Given the description of an element on the screen output the (x, y) to click on. 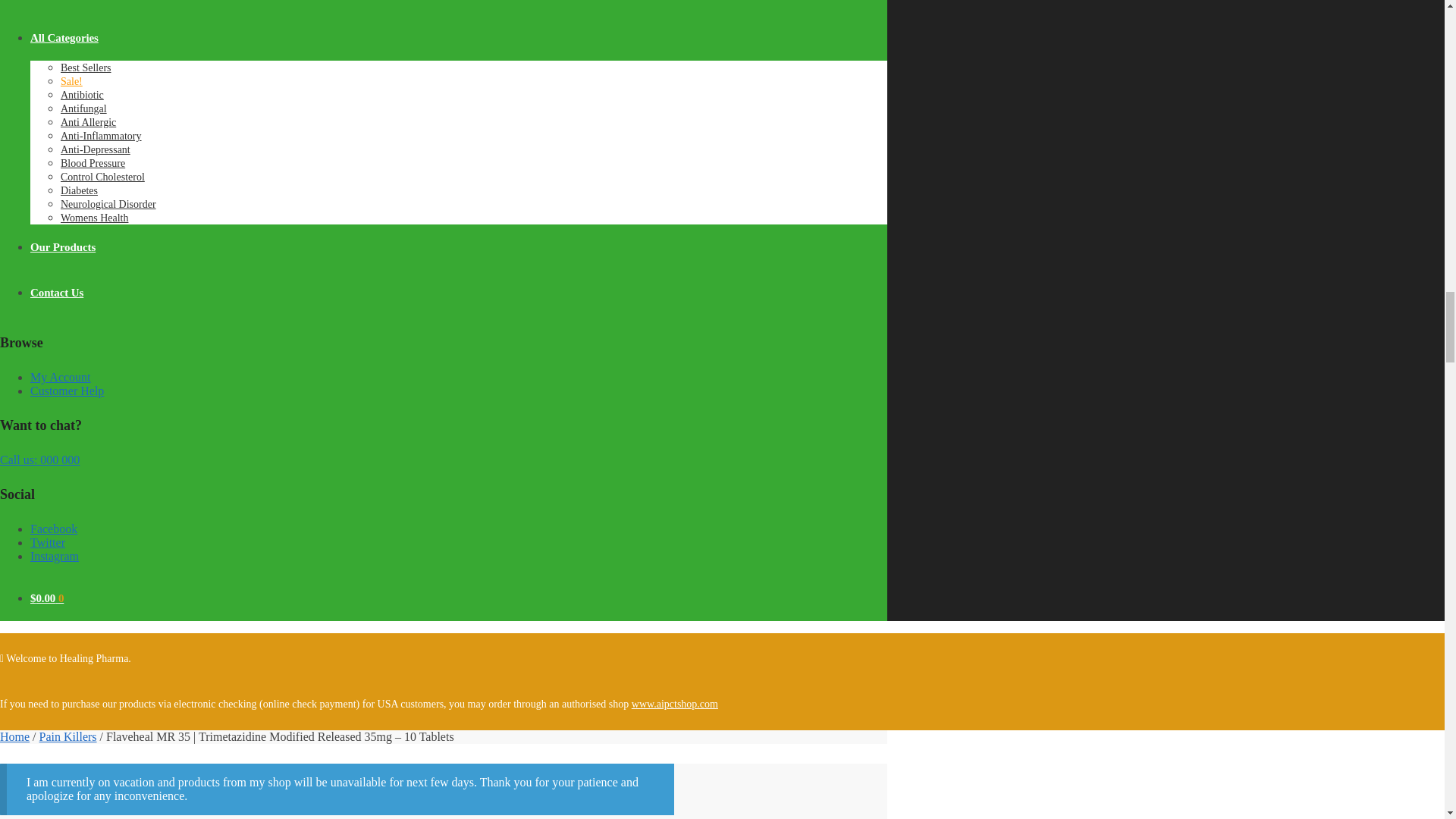
Anti-Depressant (96, 149)
View your shopping cart (47, 598)
Facebook (53, 528)
www.aipctshop.com (674, 704)
Control Cholesterol (102, 176)
Best Sellers (86, 67)
All Categories (64, 37)
Anti-Inflammatory (101, 135)
Womens Health (94, 217)
Home (14, 736)
